Given the description of an element on the screen output the (x, y) to click on. 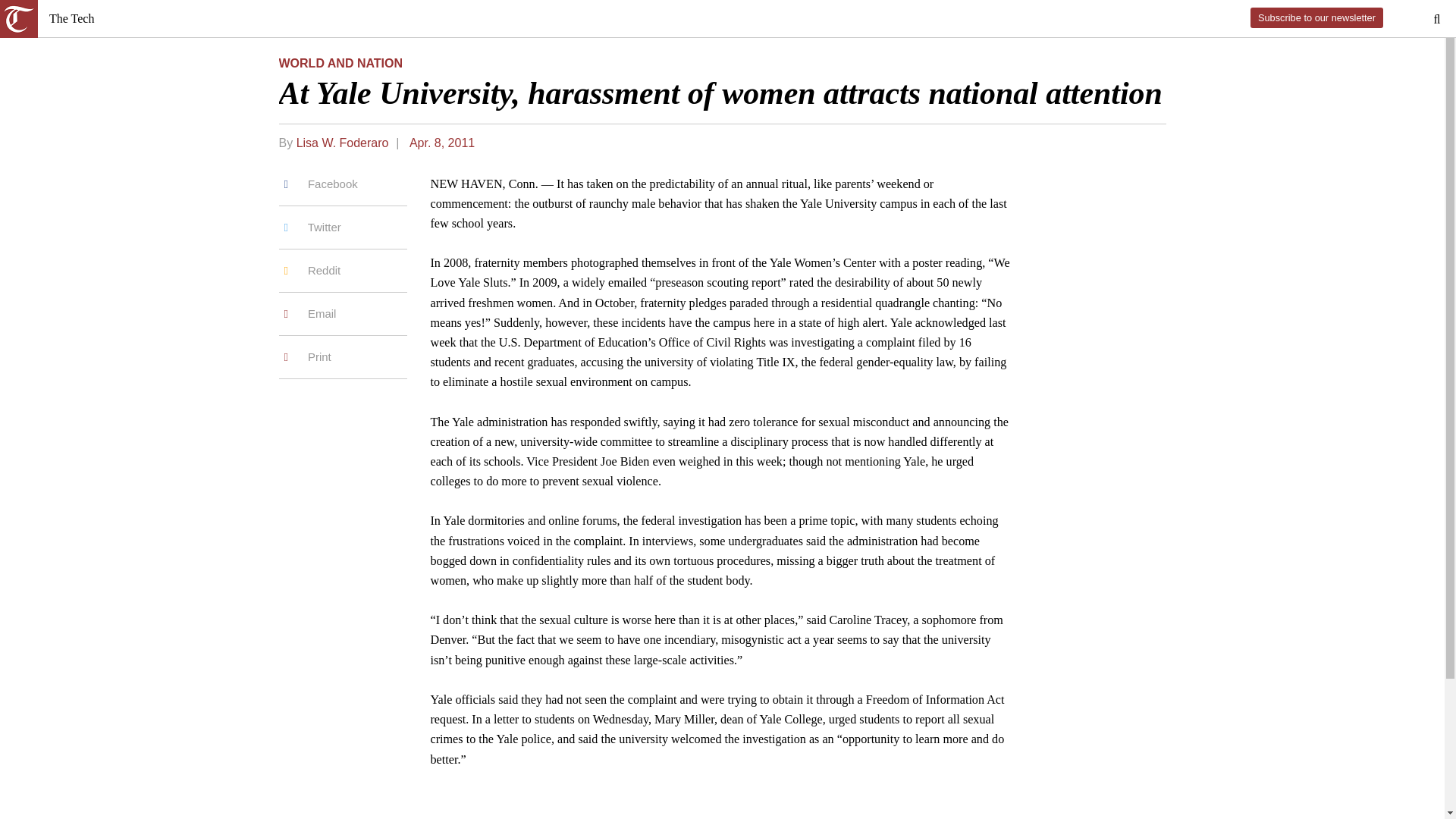
About Us (59, 188)
The Tech (106, 38)
Facebook (59, 338)
Facebook (59, 472)
Join The Tech (70, 297)
Past Issues (62, 202)
Sponsors (58, 256)
Policies (55, 229)
Photos (52, 215)
Lisa W. Foderaro (68, 443)
